Given the description of an element on the screen output the (x, y) to click on. 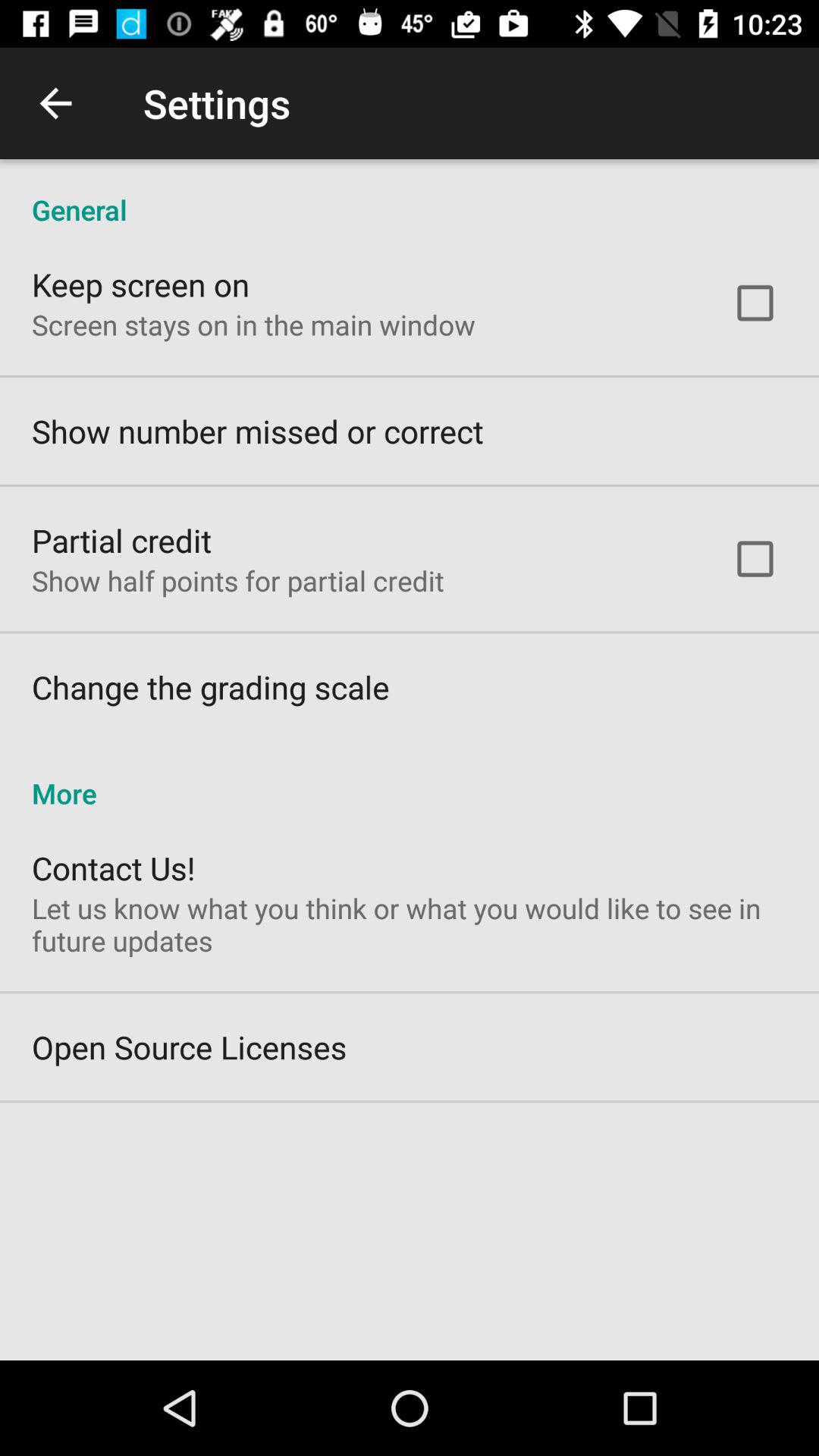
turn off the item below the partial credit icon (237, 580)
